Given the description of an element on the screen output the (x, y) to click on. 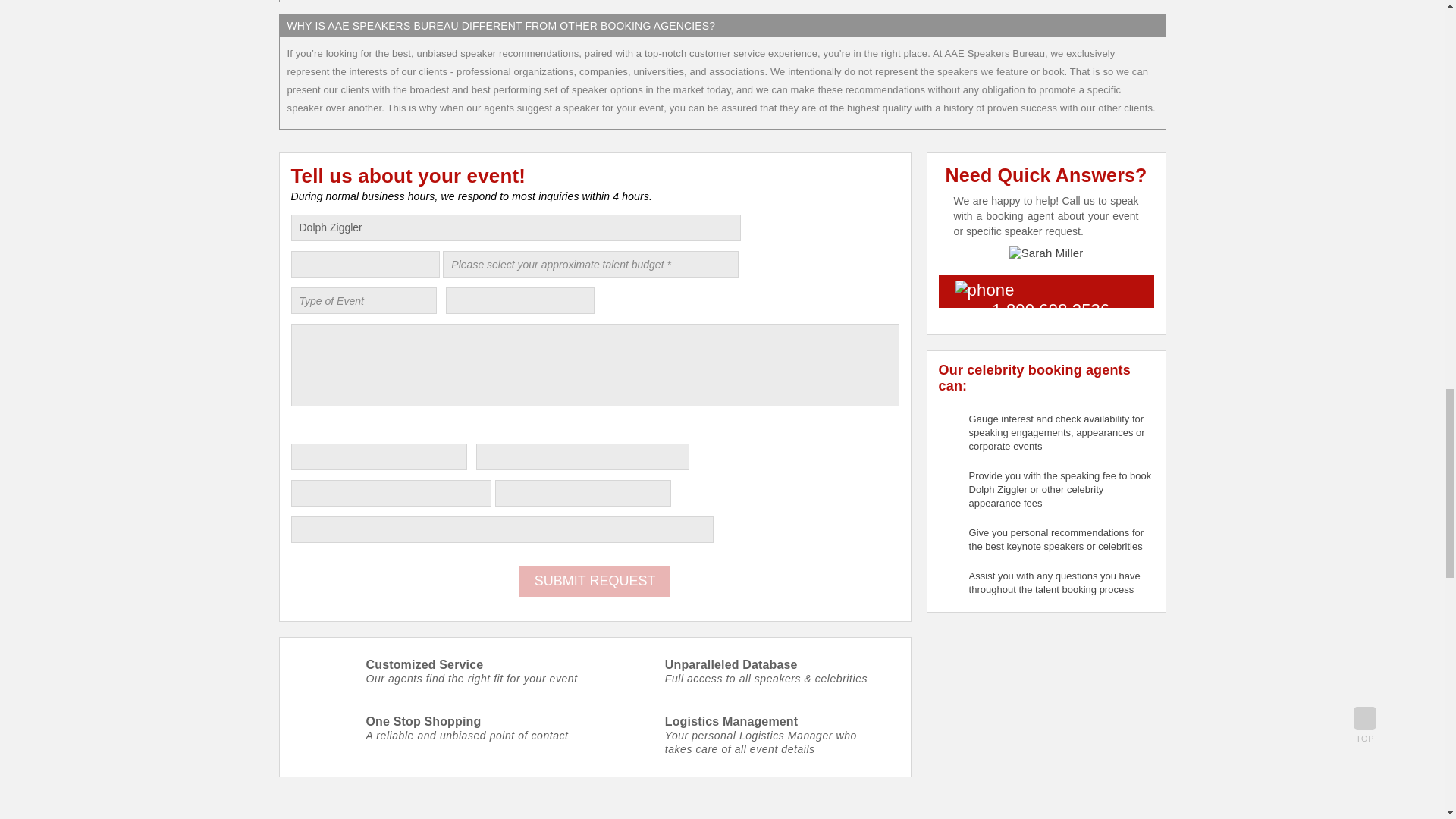
SUBMIT REQUEST (595, 581)
Dolph Ziggler (516, 227)
